Given the description of an element on the screen output the (x, y) to click on. 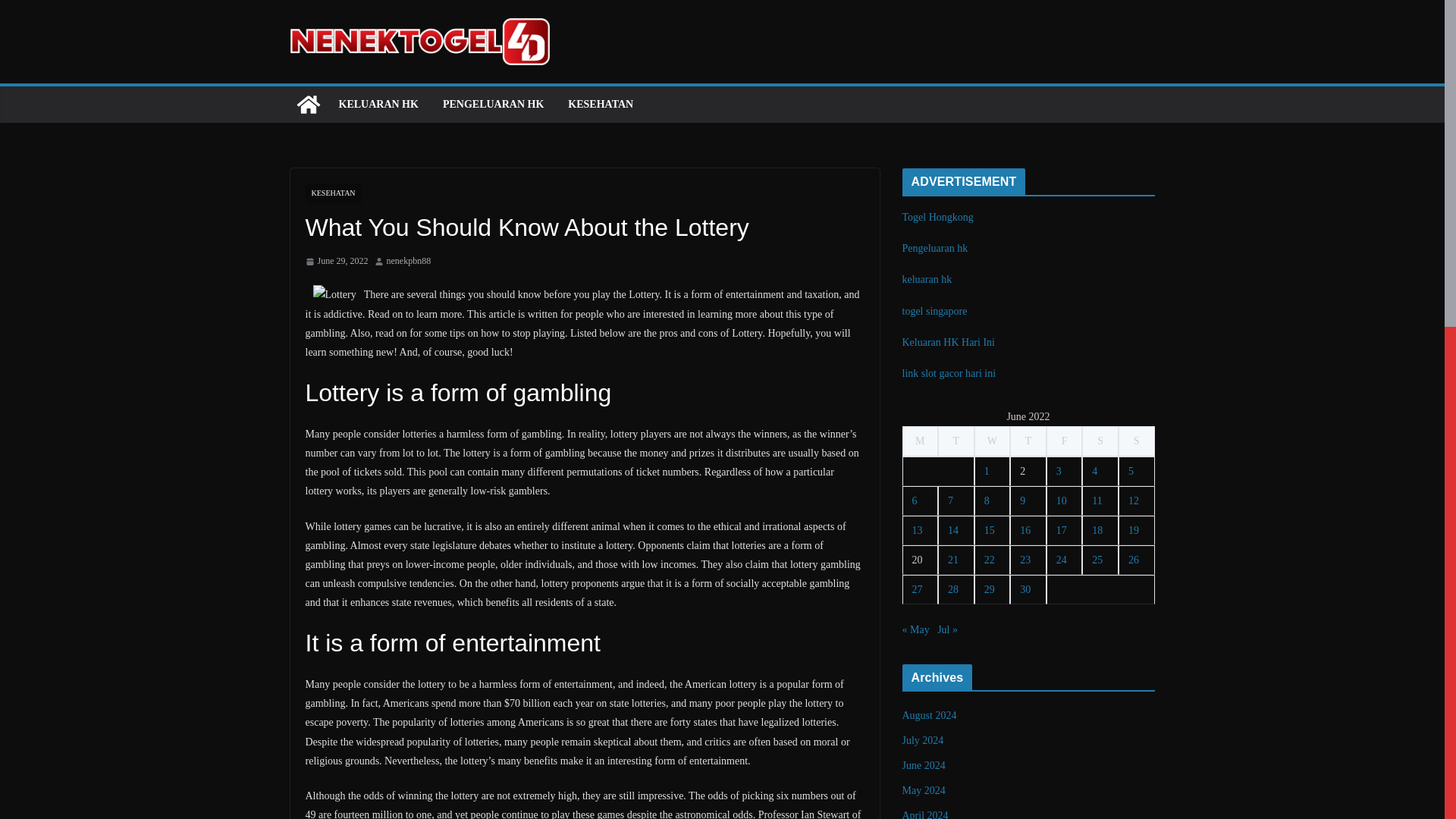
June 29, 2022 (336, 261)
21 (952, 559)
togel singapore (935, 310)
18 (1097, 530)
Keluaran HK Hari Ini (948, 342)
Pengeluaran hk (935, 247)
25 (1097, 559)
23 (1025, 559)
5 (1131, 471)
PENGELUARAN HK (492, 104)
10 (1062, 500)
KESEHATAN (600, 104)
KELUARAN HK (377, 104)
24 (1062, 559)
14 (952, 530)
